Given the description of an element on the screen output the (x, y) to click on. 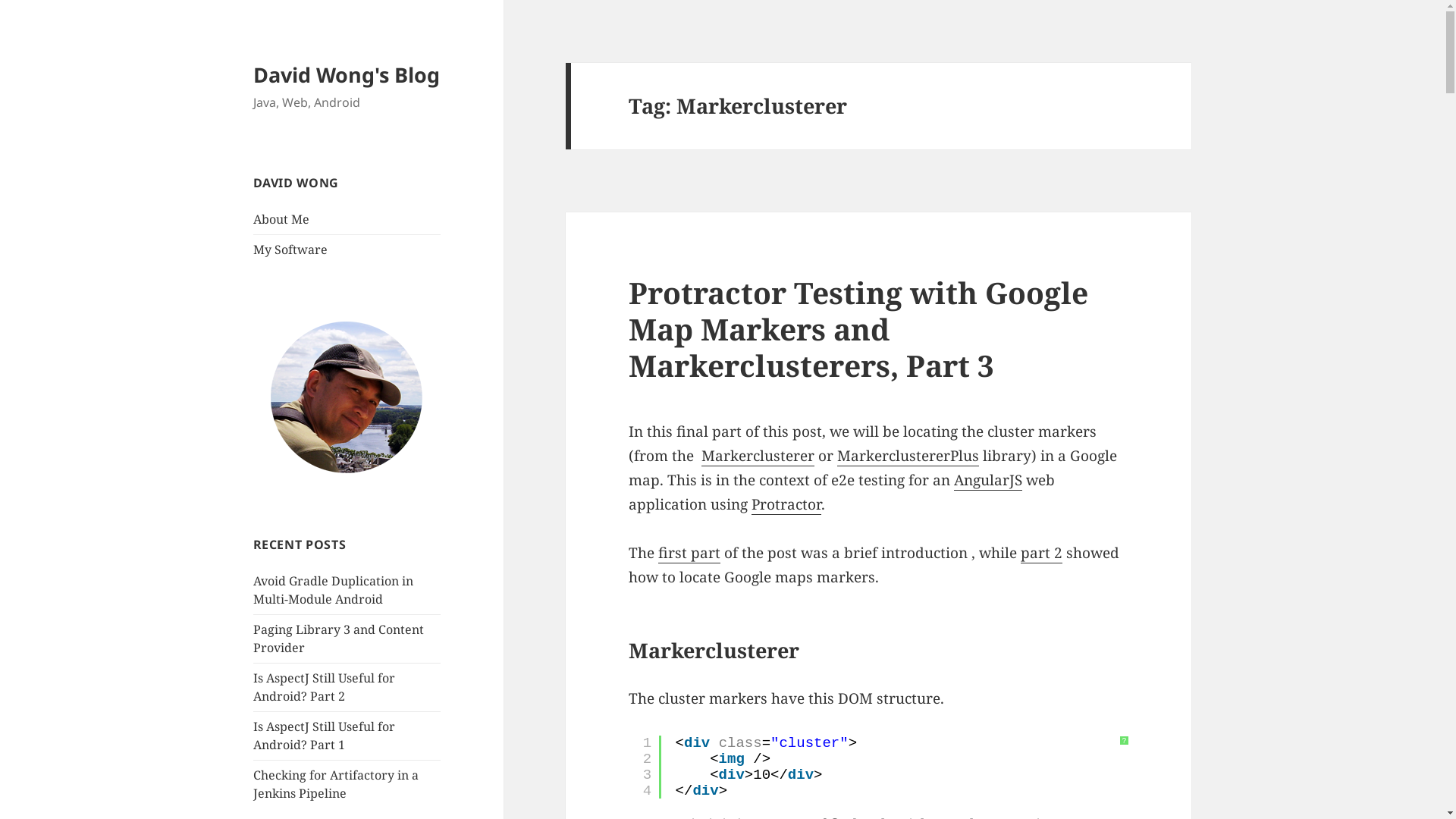
MarkerclustererPlus Element type: text (908, 455)
Paging Library 3 and Content Provider Element type: text (338, 638)
About Me Element type: text (281, 218)
Checking for Artifactory in a Jenkins Pipeline Element type: text (335, 783)
part 2 Element type: text (1041, 552)
Avoid Gradle Duplication in Multi-Module Android Element type: text (333, 589)
Markerclusterer Element type: text (757, 455)
first part Element type: text (689, 552)
Is AspectJ Still Useful for Android? Part 2 Element type: text (324, 686)
Is AspectJ Still Useful for Android? Part 1 Element type: text (324, 735)
David Wong's Blog Element type: text (346, 74)
My Software Element type: text (290, 249)
Protractor Element type: text (786, 504)
AngularJS Element type: text (987, 480)
? Element type: text (1124, 740)
